Given the description of an element on the screen output the (x, y) to click on. 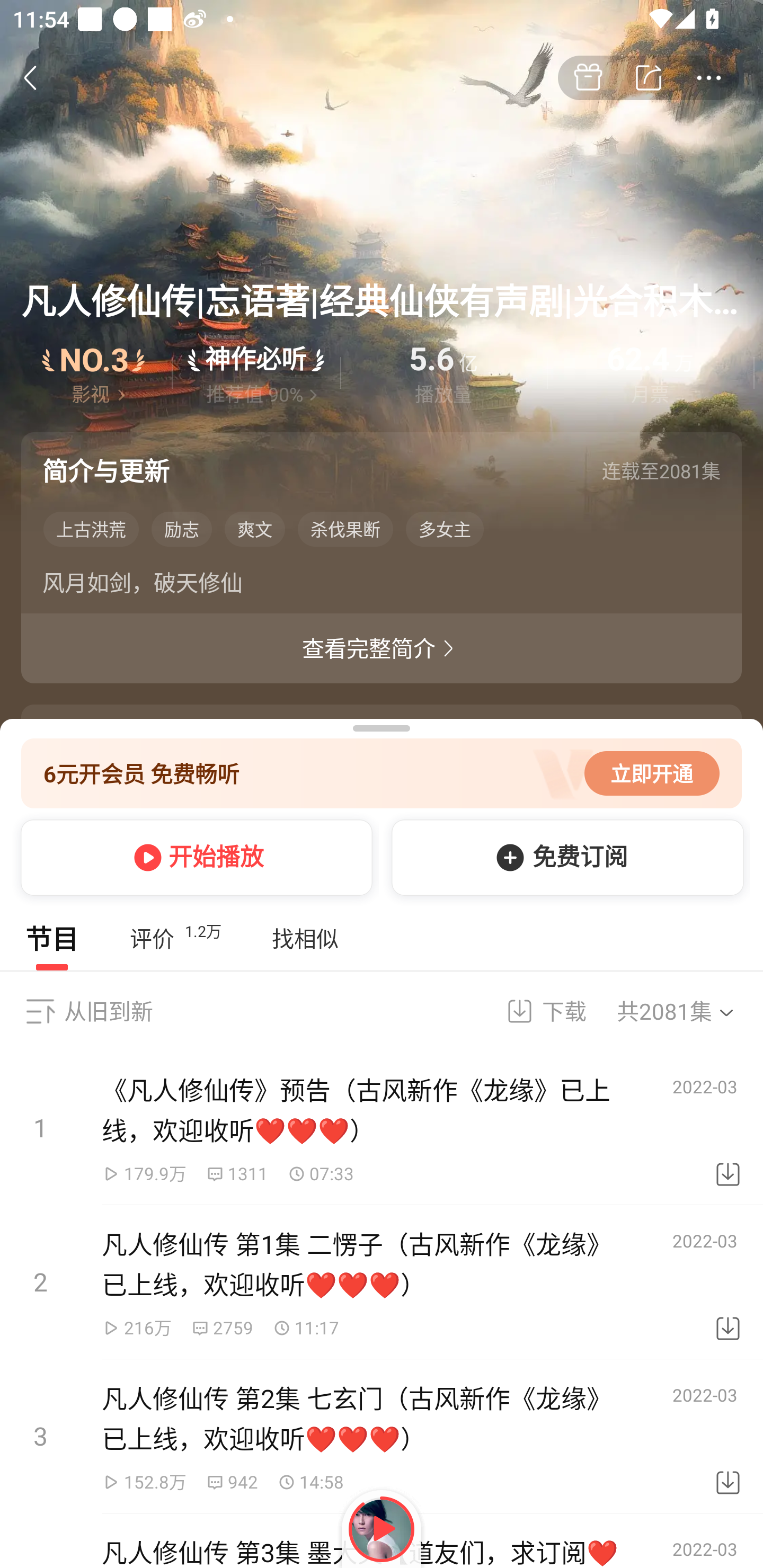
返回 (40, 77)
买赠 (587, 78)
分享 (648, 78)
更多 (709, 78)
排行榜 (93, 372)
评价 (255, 372)
上古洪荒 (90, 529)
励志 (181, 529)
爽文 (254, 529)
杀伐果断 (344, 529)
多女主 (444, 529)
风月如剑，破天修仙 (381, 586)
查看完整简介 (381, 648)
开始播放 (193, 857)
免费订阅 (564, 857)
节目 (51, 938)
评价  1.2万 (174, 938)
找相似 (304, 938)
排序，从旧到新 (40, 1011)
从旧到新 (108, 1011)
下载 (534, 1011)
共2081集 选集，共2081集 (687, 1011)
下载 (728, 1127)
下载 (728, 1282)
下载 (728, 1436)
继续播放Alpha-橘子海OrangeOcean (381, 1529)
4 凡人修仙传 第3集 墨大夫【道友们，求订阅❤️月票❤】 2022-03 下载 (381, 1540)
